Given the description of an element on the screen output the (x, y) to click on. 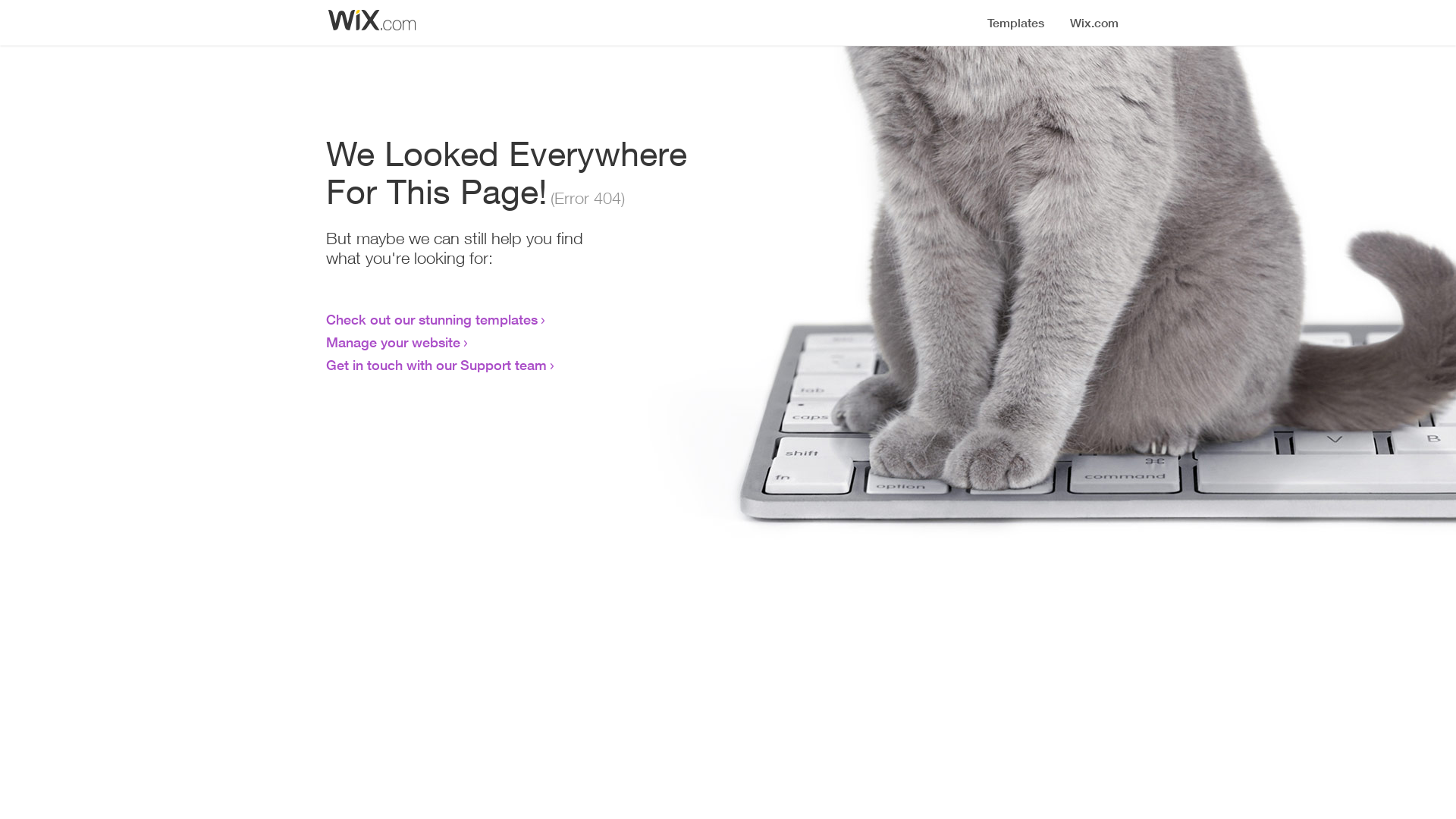
Manage your website Element type: text (393, 341)
Check out our stunning templates Element type: text (431, 318)
Get in touch with our Support team Element type: text (436, 364)
